Given the description of an element on the screen output the (x, y) to click on. 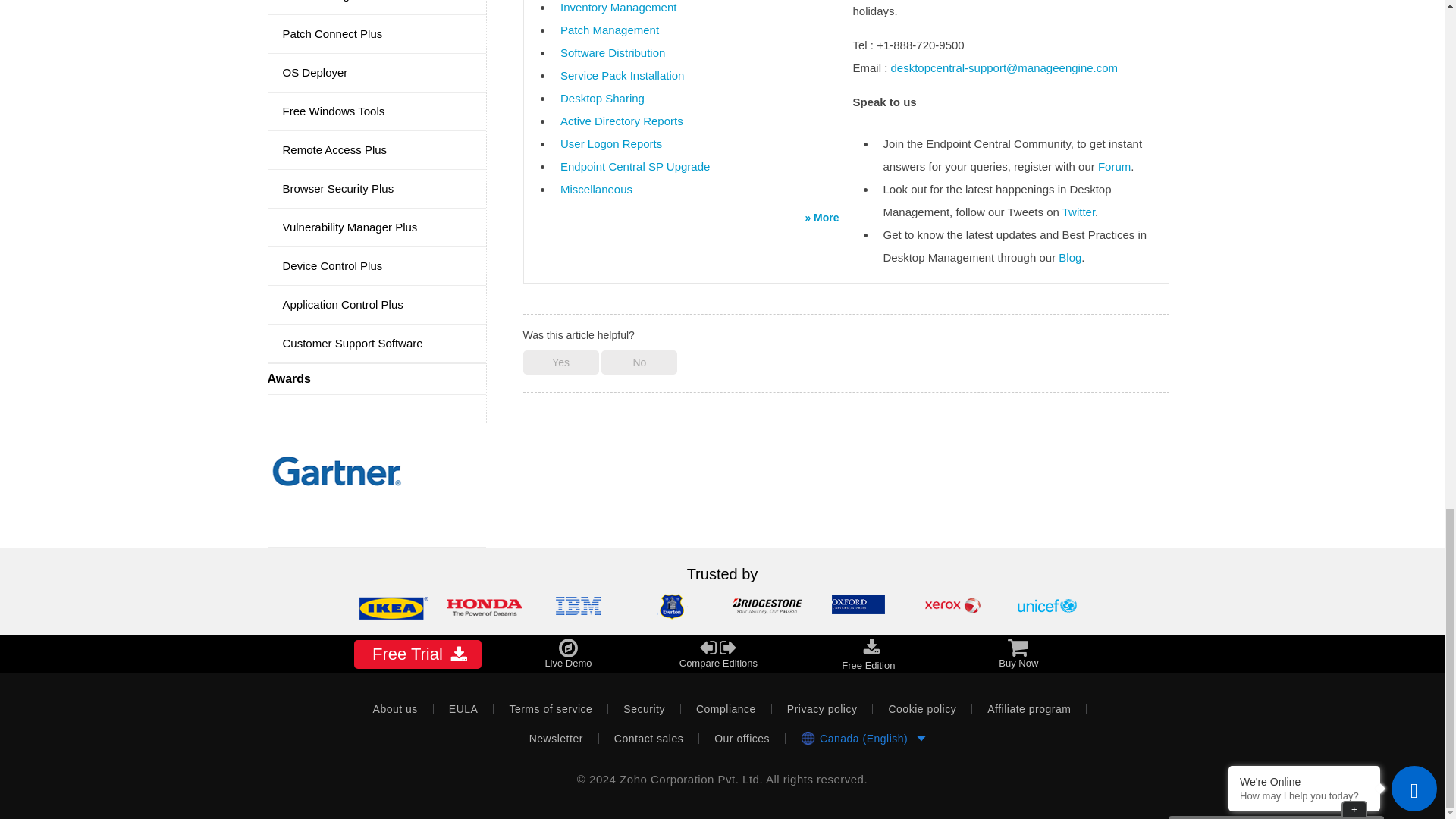
No (639, 362)
Yes (560, 362)
